Given the description of an element on the screen output the (x, y) to click on. 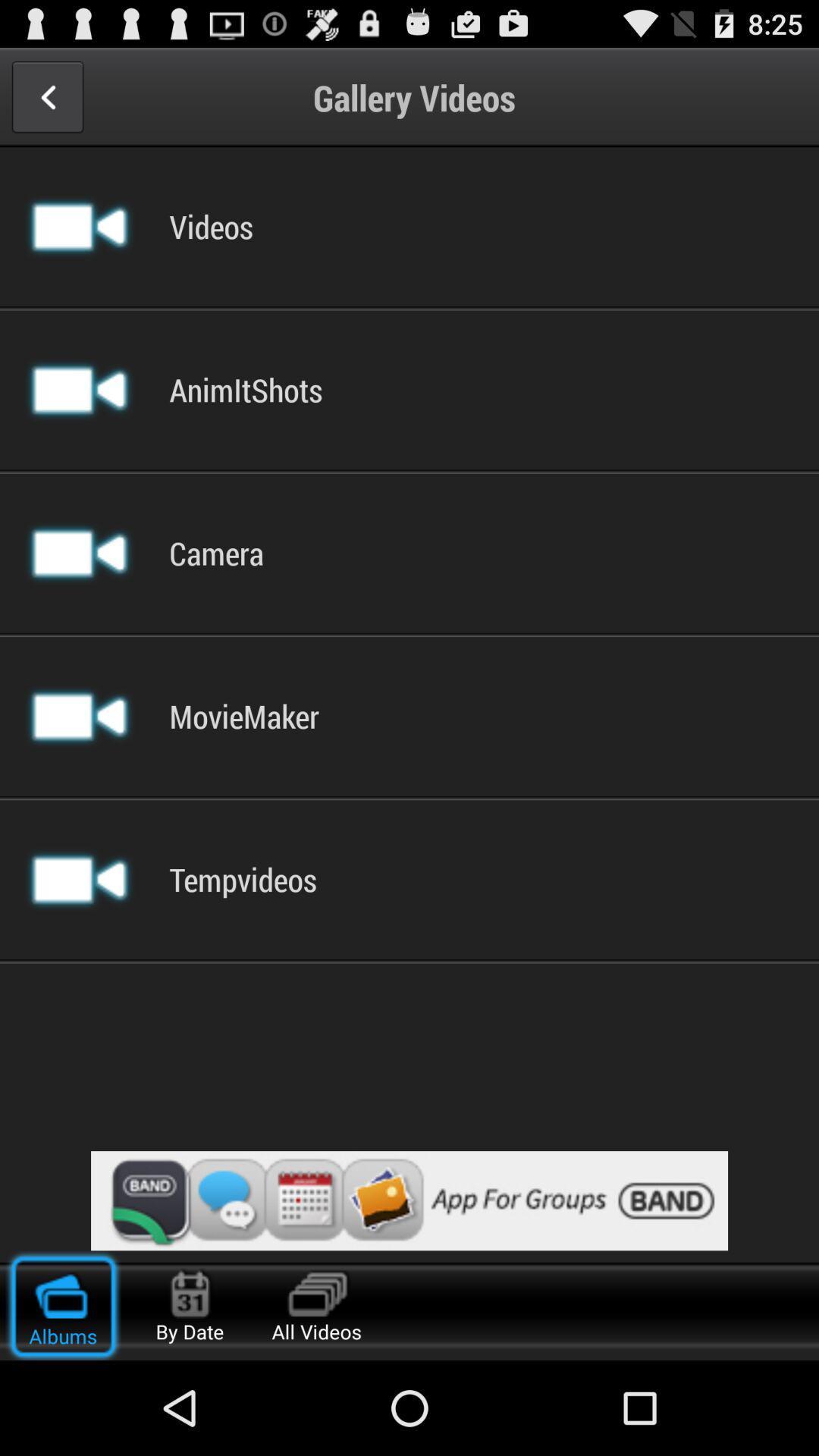
back option (47, 97)
